Given the description of an element on the screen output the (x, y) to click on. 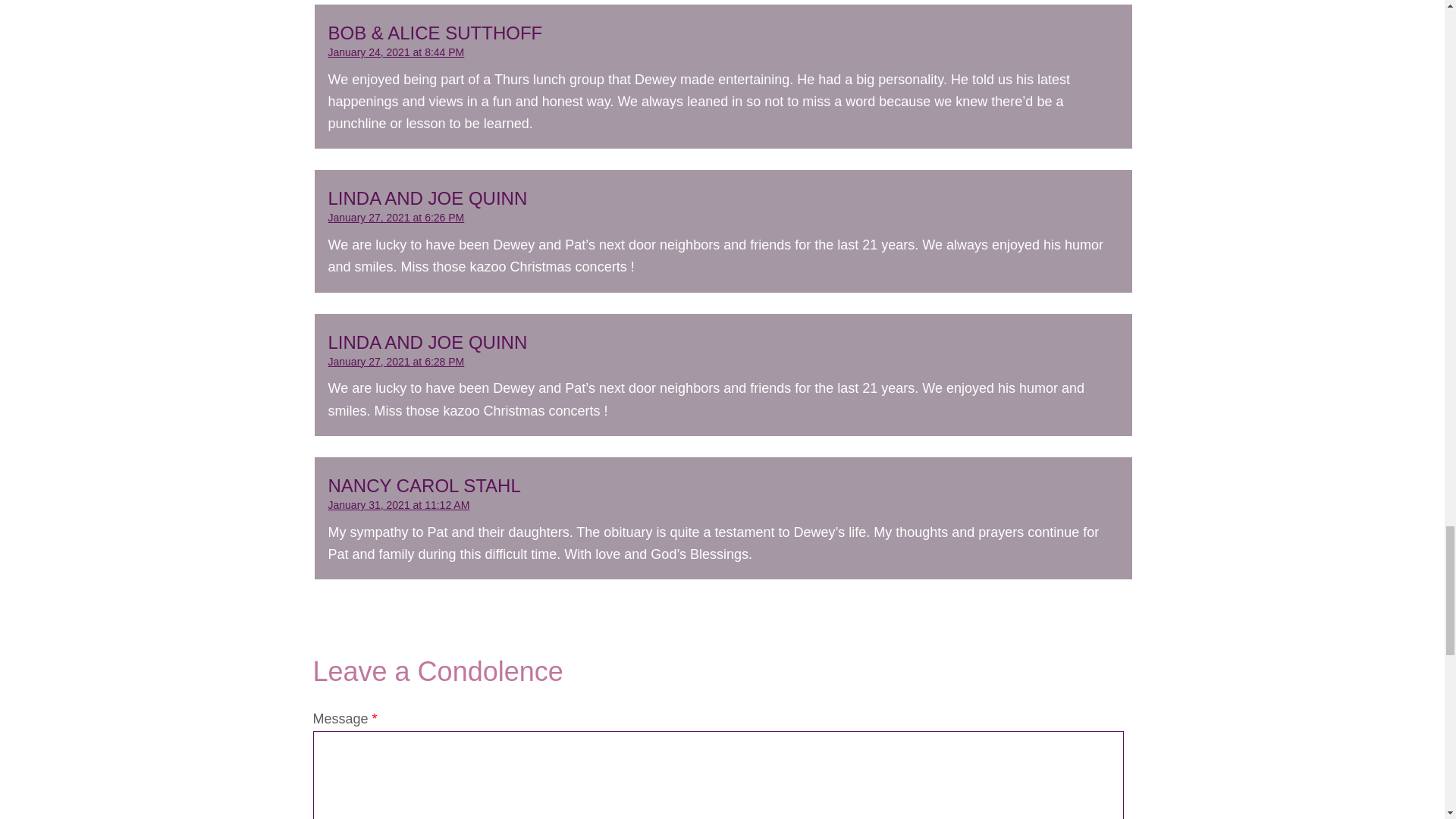
January 31, 2021 at 11:12 AM (397, 504)
January 27, 2021 at 6:28 PM (395, 361)
January 24, 2021 at 8:44 PM (395, 51)
January 27, 2021 at 6:26 PM (395, 217)
